Given the description of an element on the screen output the (x, y) to click on. 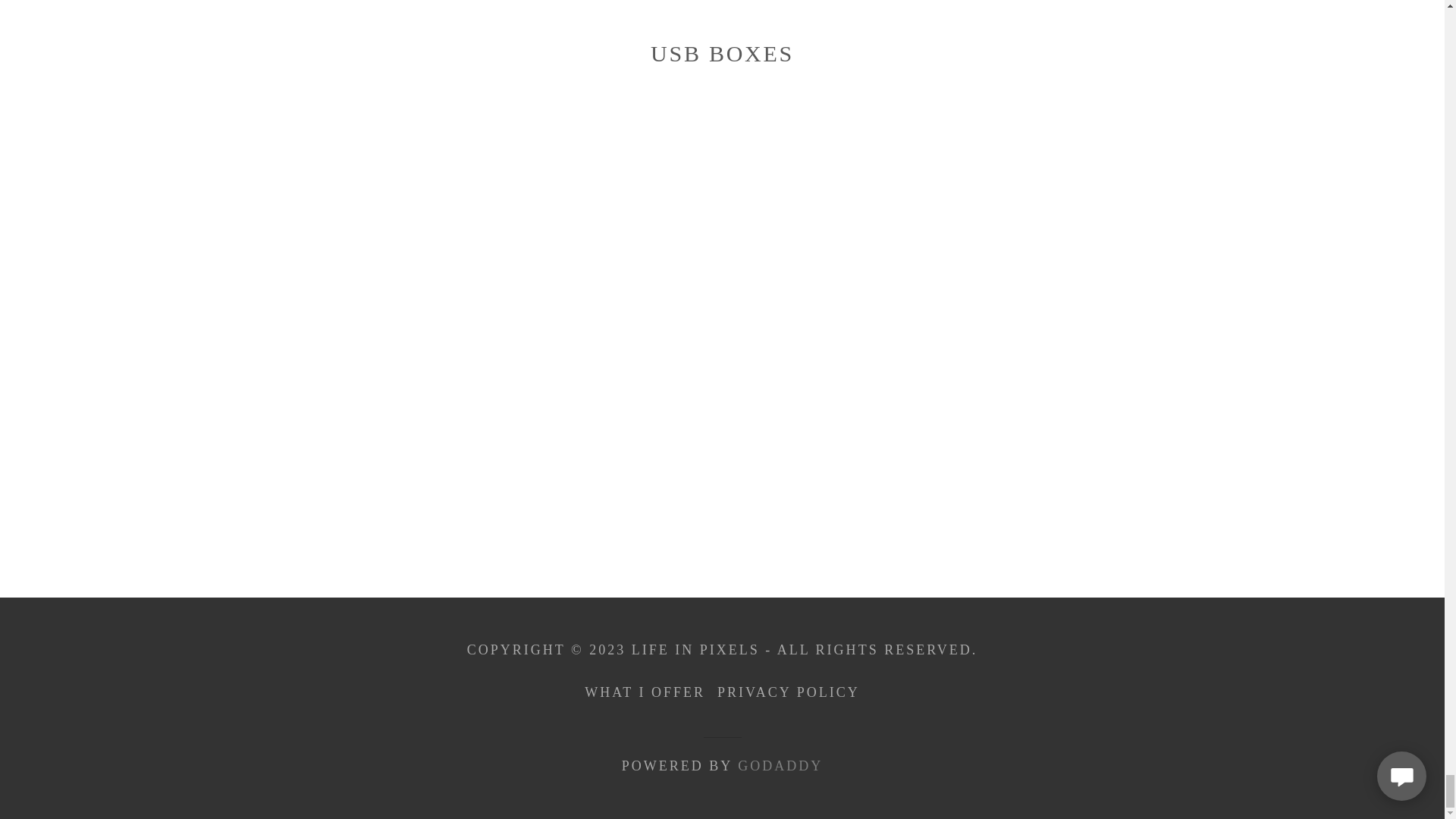
GODADDY (780, 765)
PRIVACY POLICY (788, 692)
WHAT I OFFER (644, 692)
